Given the description of an element on the screen output the (x, y) to click on. 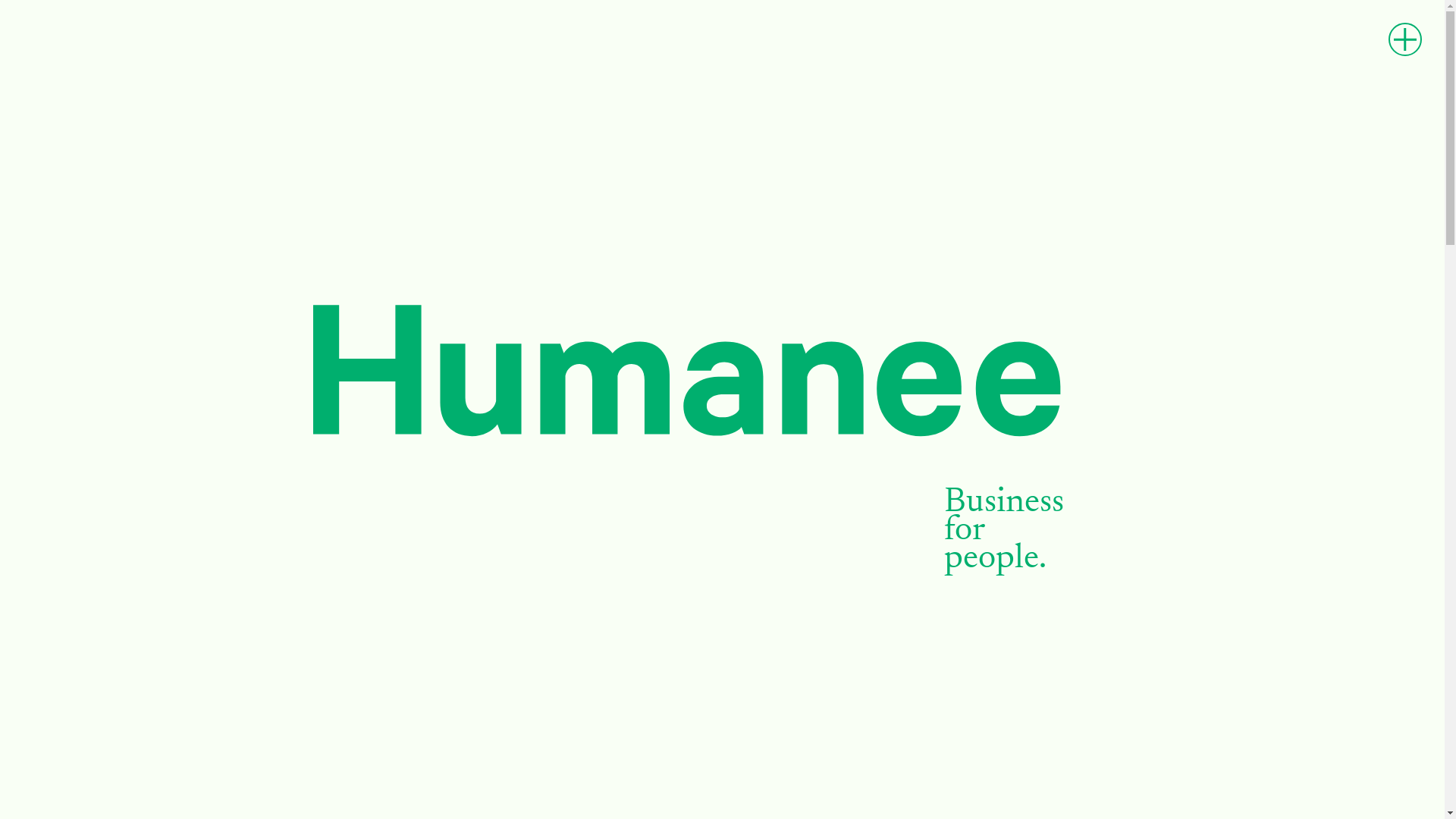
167 Flinders St
Adelaide SA 5000 Element type: text (1000, 285)
Site by Sector7g Element type: text (996, 765)
About Element type: text (341, 281)
Services Element type: text (352, 337)
hello@humanee.com.au Element type: text (1015, 314)
People Element type: text (344, 309)
Contact Element type: text (349, 365)
LinkedIn Element type: text (970, 335)
